Given the description of an element on the screen output the (x, y) to click on. 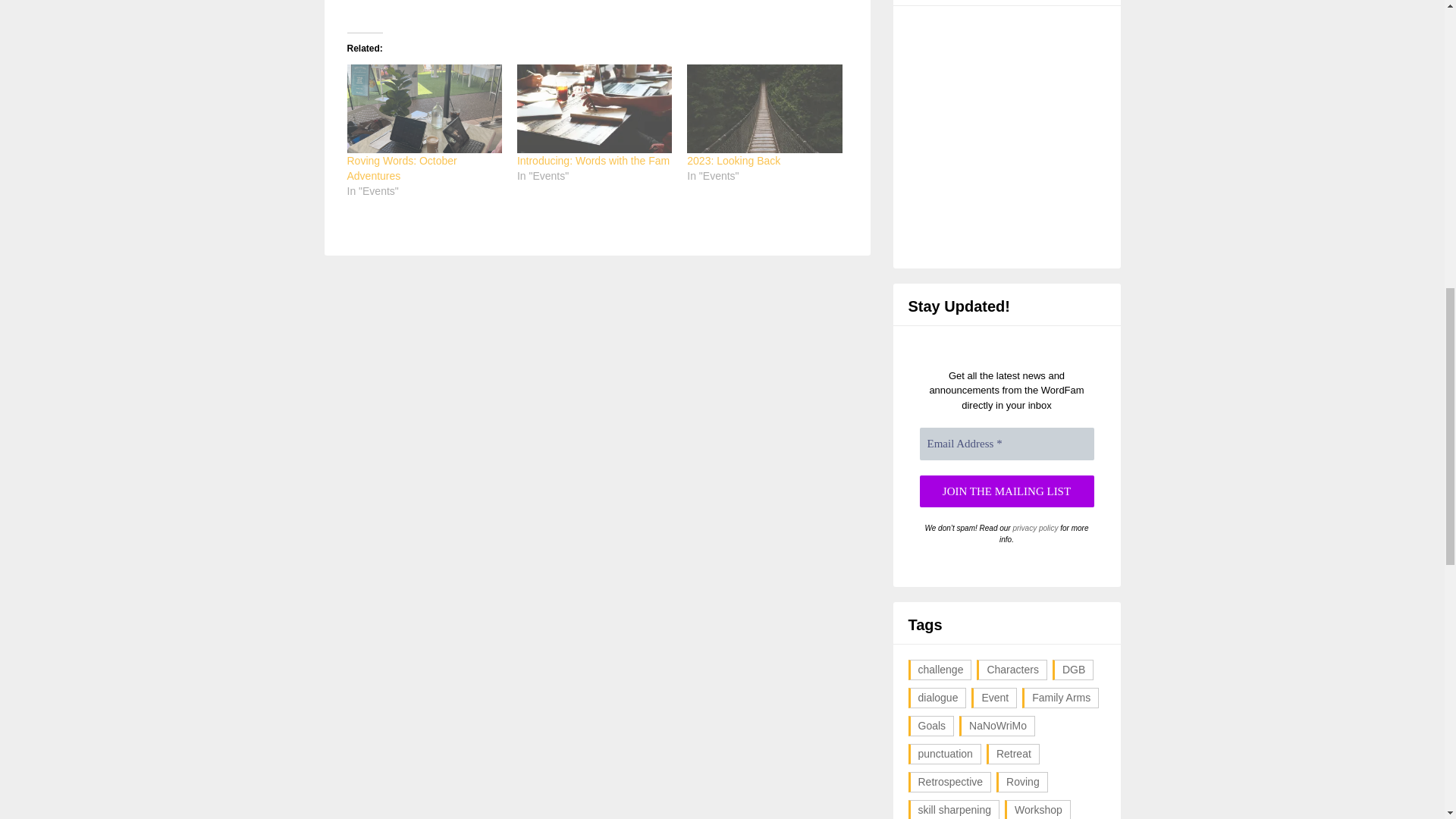
Introducing: Words with the Fam (592, 160)
Roving Words: October Adventures (424, 108)
Introducing: Words with the Fam (593, 108)
Introducing: Words with the Fam (592, 160)
Email Address (1005, 443)
2023: Looking Back (733, 160)
Roving Words: October Adventures (402, 167)
2023: Looking Back (733, 160)
2023: Looking Back (764, 108)
JOIN THE MAILING LIST (1005, 491)
